Given the description of an element on the screen output the (x, y) to click on. 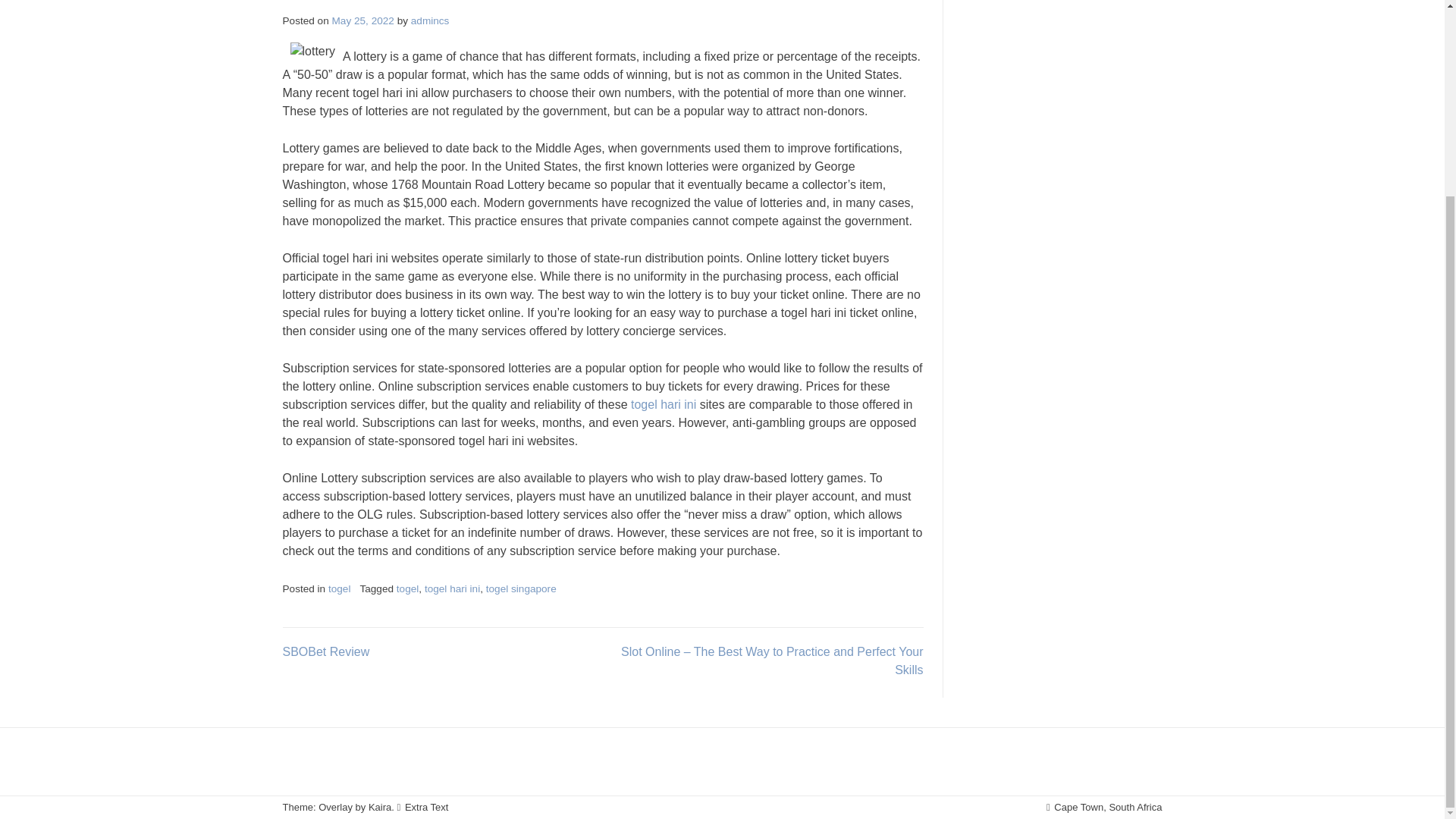
togel (407, 588)
togel hari ini (452, 588)
togel singapore (521, 588)
Kaira (379, 807)
SBOBet Review (325, 651)
togel hari ini (662, 404)
admincs (429, 20)
togel (339, 588)
May 25, 2022 (362, 20)
